Given the description of an element on the screen output the (x, y) to click on. 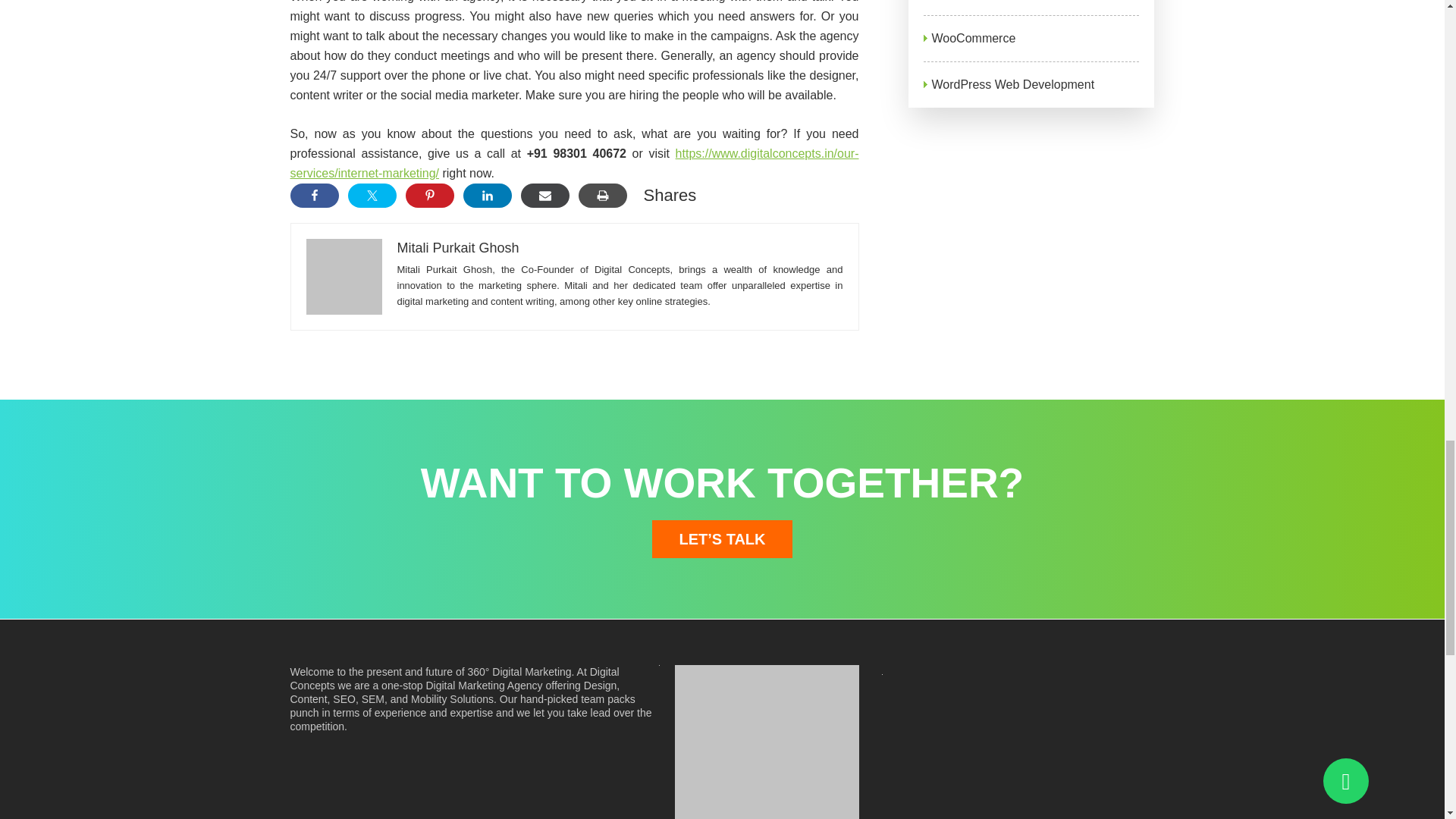
Share on Pinterest (428, 195)
Read Our Interview on GoodFirms (767, 742)
Share on Twitter (371, 195)
Print this Page (602, 195)
Share via Email (544, 195)
Share on Facebook (313, 195)
Share on LinkedIn (487, 195)
